Given the description of an element on the screen output the (x, y) to click on. 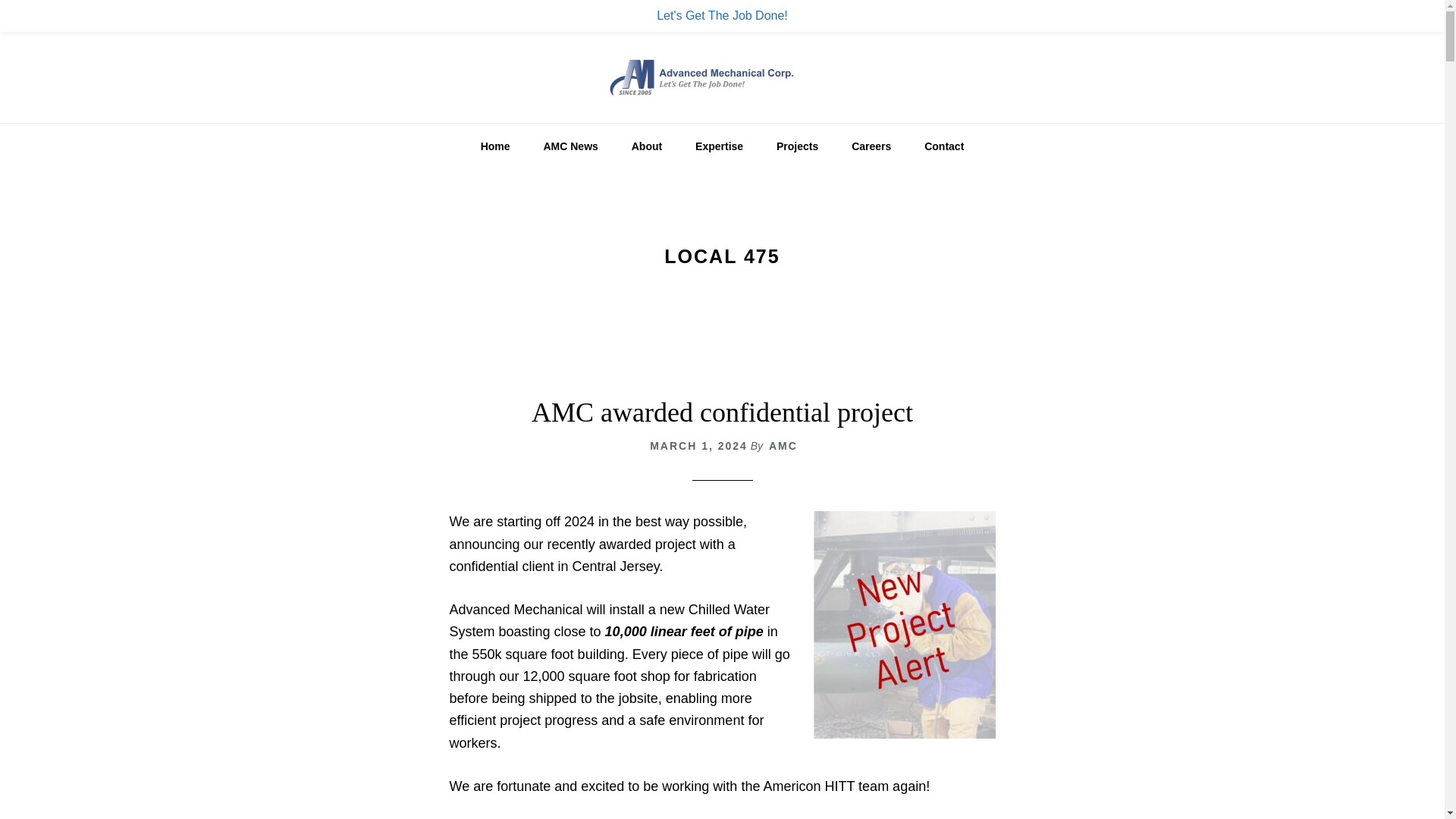
Home (495, 145)
AMC News (569, 145)
Contact (943, 145)
Careers (870, 145)
Expertise (718, 145)
Projects (796, 145)
AMC (782, 445)
About (646, 145)
Advanced Mechanical Corp (721, 76)
